Given the description of an element on the screen output the (x, y) to click on. 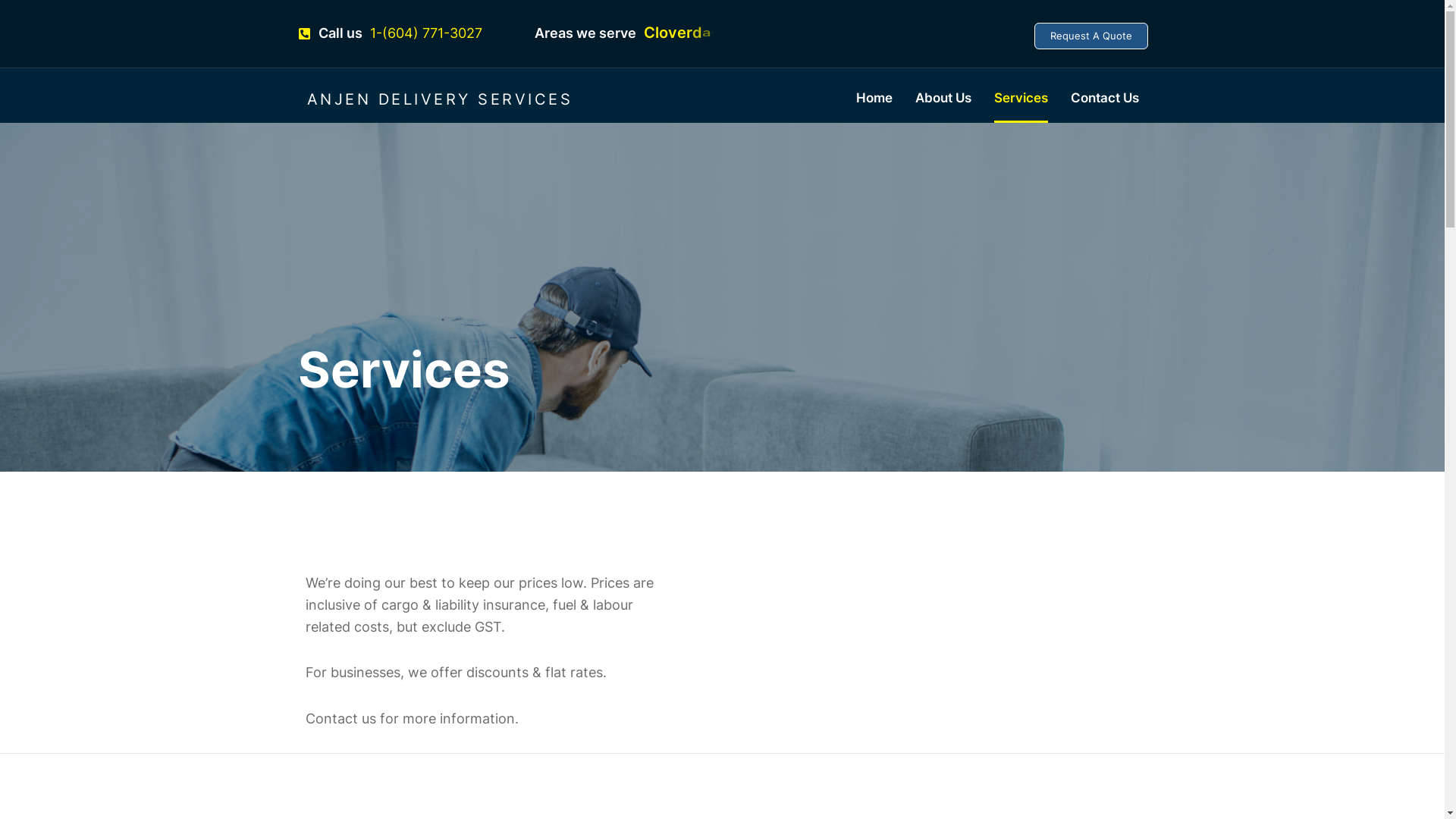
Request A Quote Element type: text (1091, 35)
Contact Us Element type: text (1104, 97)
Services Element type: text (1021, 97)
About Us Element type: text (943, 97)
1-(604) 771-3027 Element type: text (426, 32)
Home Element type: text (874, 97)
ANJEN DELIVERY SERVICES Element type: text (439, 99)
